Given the description of an element on the screen output the (x, y) to click on. 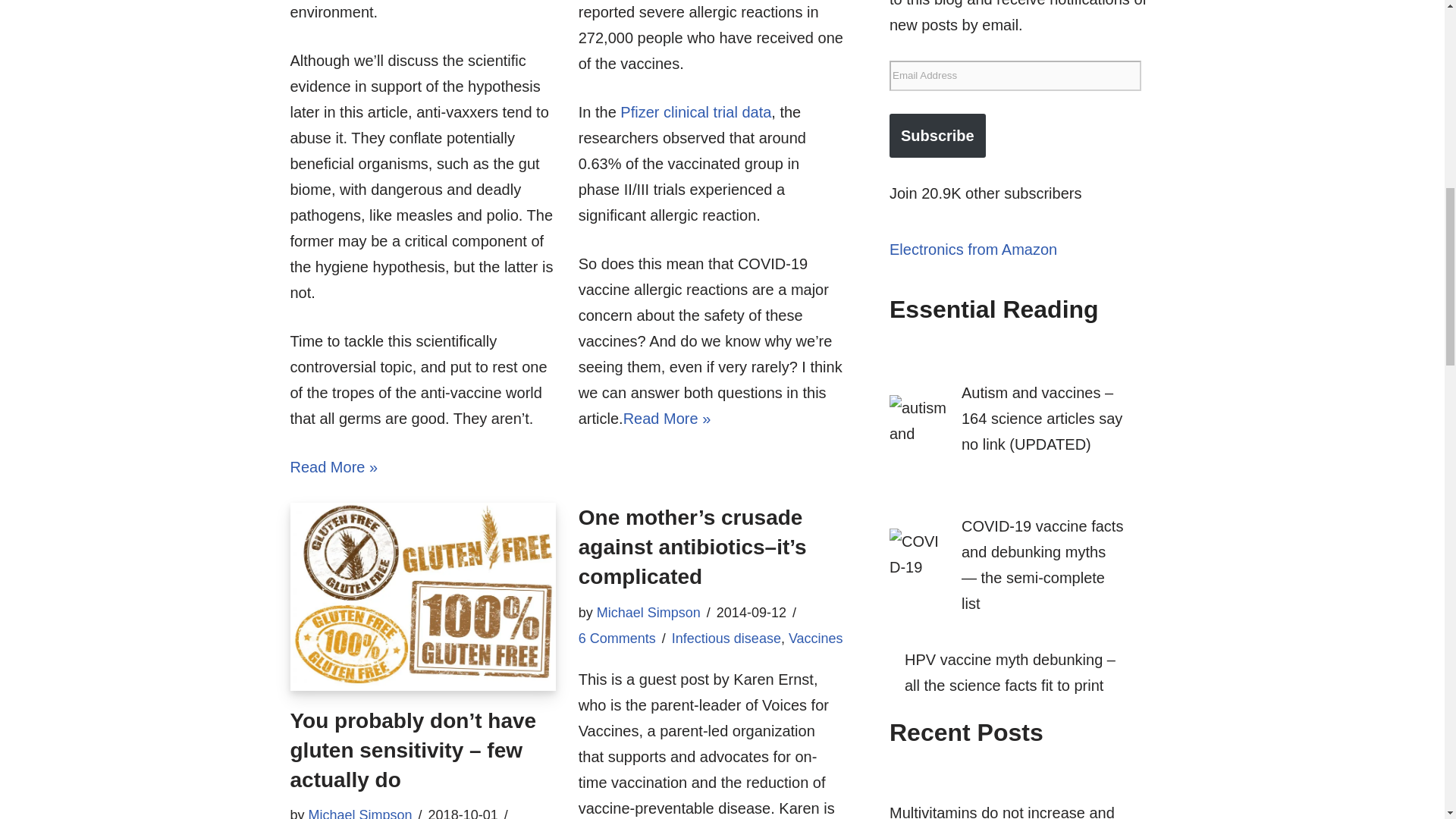
Posts by Michael Simpson (648, 612)
Posts by Michael Simpson (360, 813)
